Given the description of an element on the screen output the (x, y) to click on. 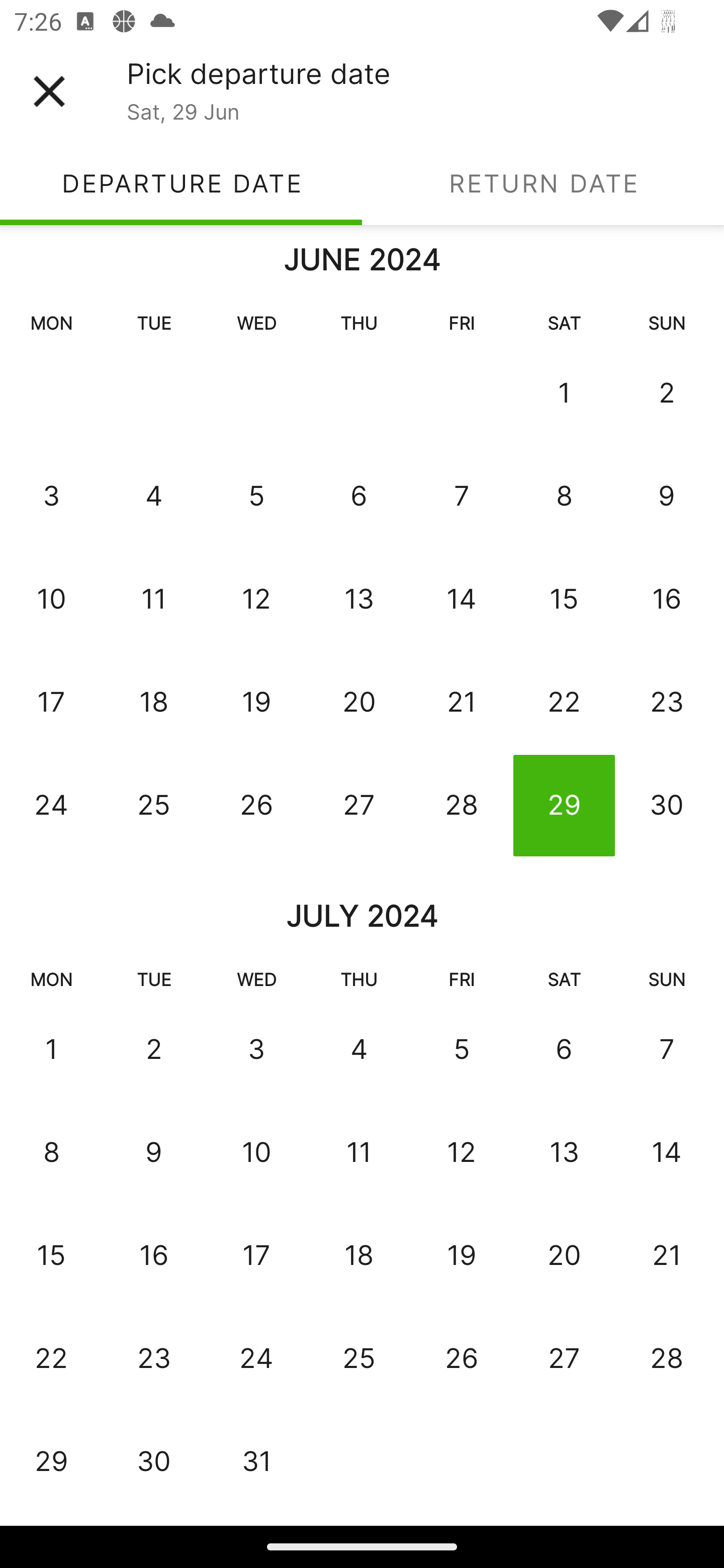
Return Date RETURN DATE (543, 183)
